Given the description of an element on the screen output the (x, y) to click on. 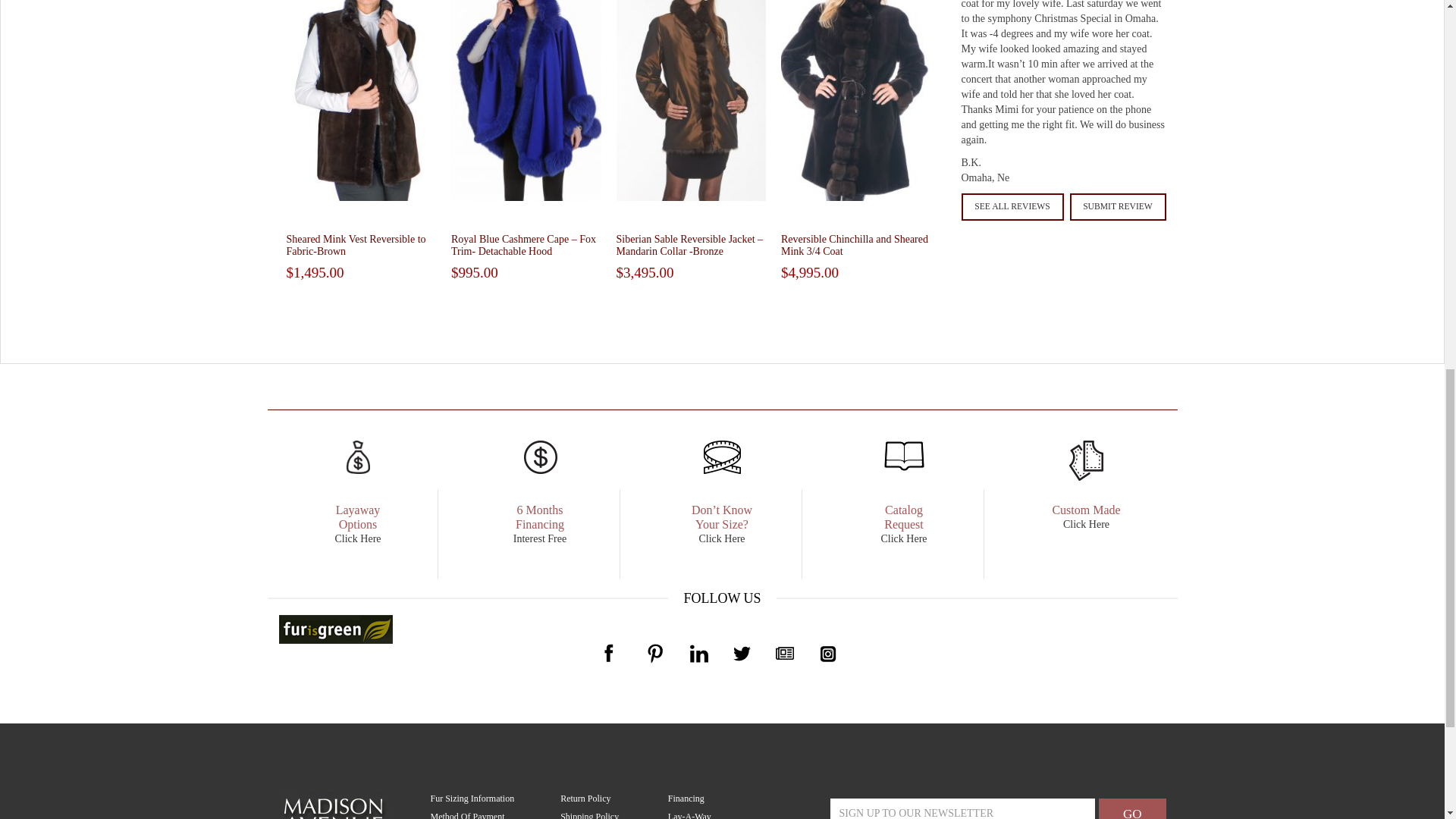
Madison Avenue Malls (334, 817)
Go (1132, 808)
